Given the description of an element on the screen output the (x, y) to click on. 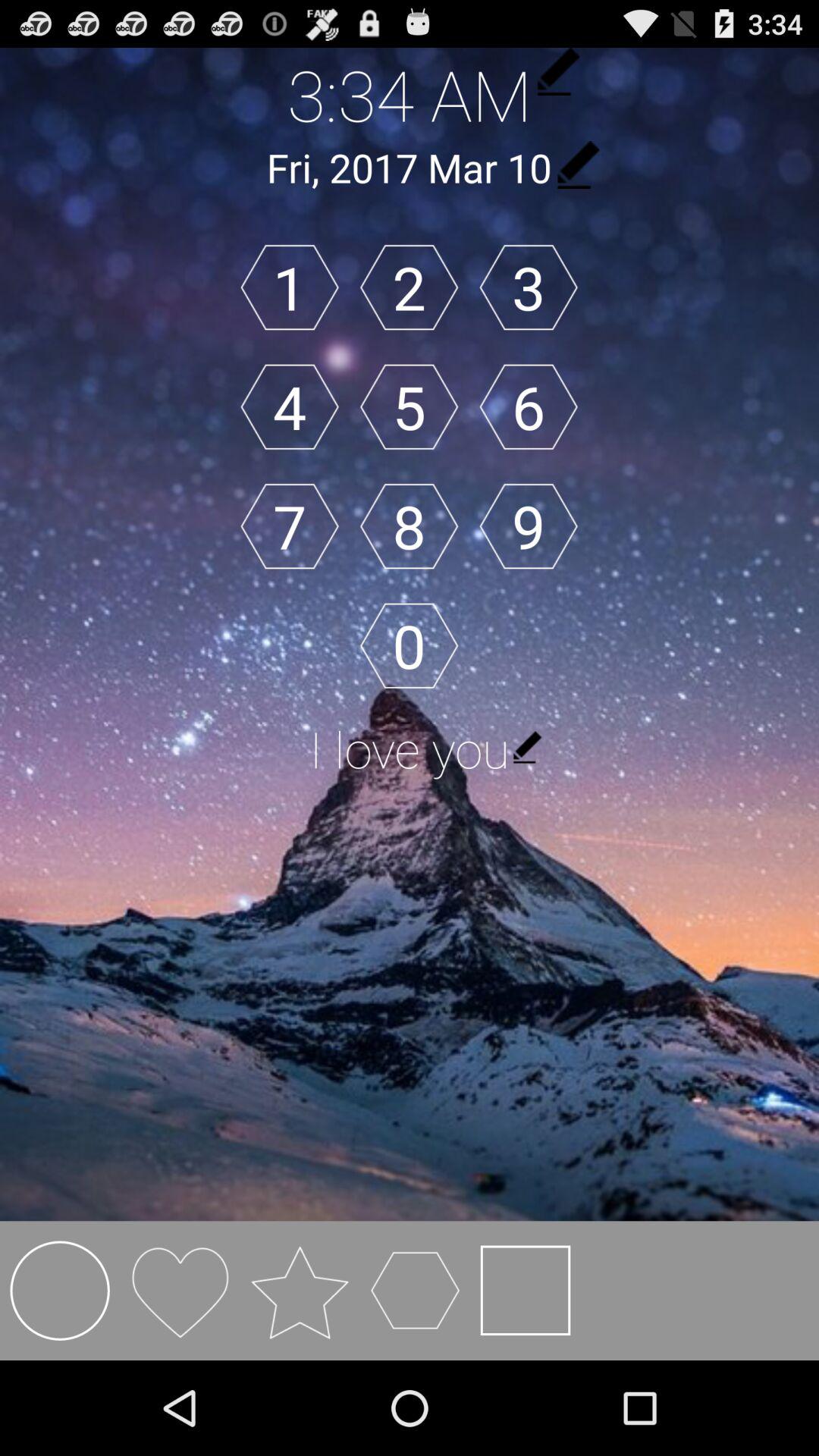
choose button to the right of the 8 button (528, 526)
